Given the description of an element on the screen output the (x, y) to click on. 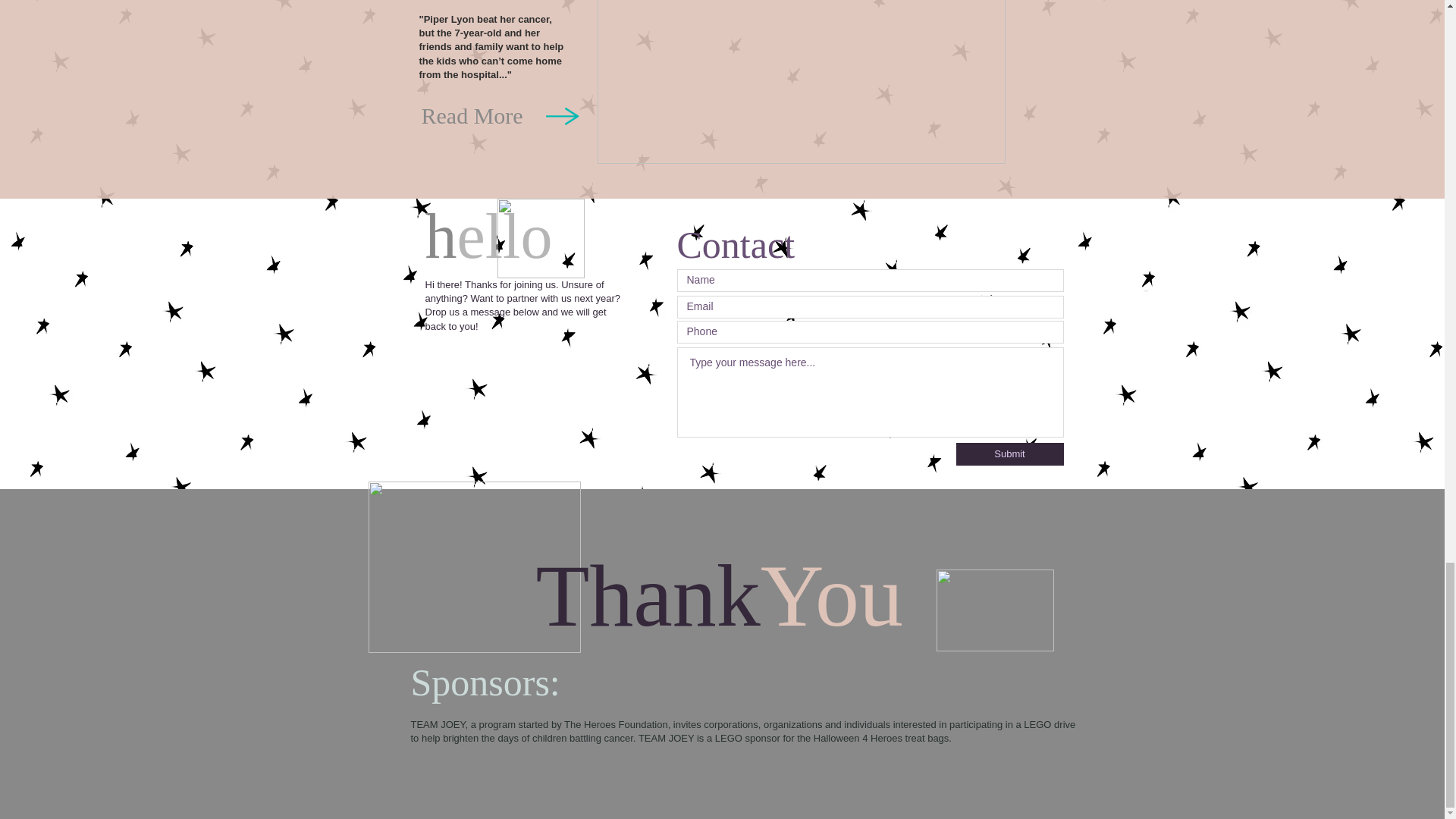
Submit (1008, 454)
Riley Article.png (801, 81)
Sponsors:  (490, 681)
